Given the description of an element on the screen output the (x, y) to click on. 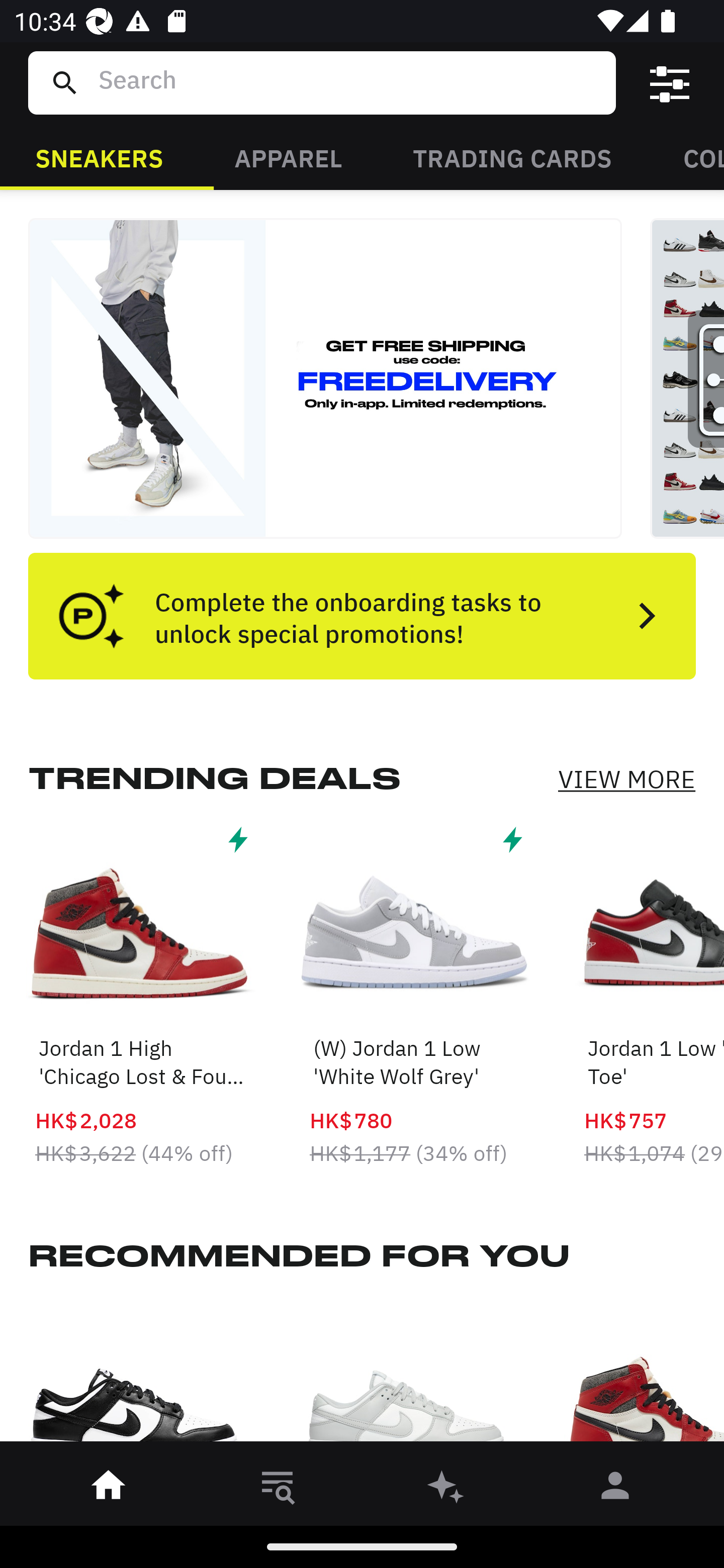
Search (349, 82)
 (669, 82)
SNEAKERS (99, 156)
APPAREL (287, 156)
TRADING CARDS (512, 156)
VIEW MORE (626, 779)
󰋜 (108, 1488)
󱎸 (277, 1488)
󰫢 (446, 1488)
󰀄 (615, 1488)
